Given the description of an element on the screen output the (x, y) to click on. 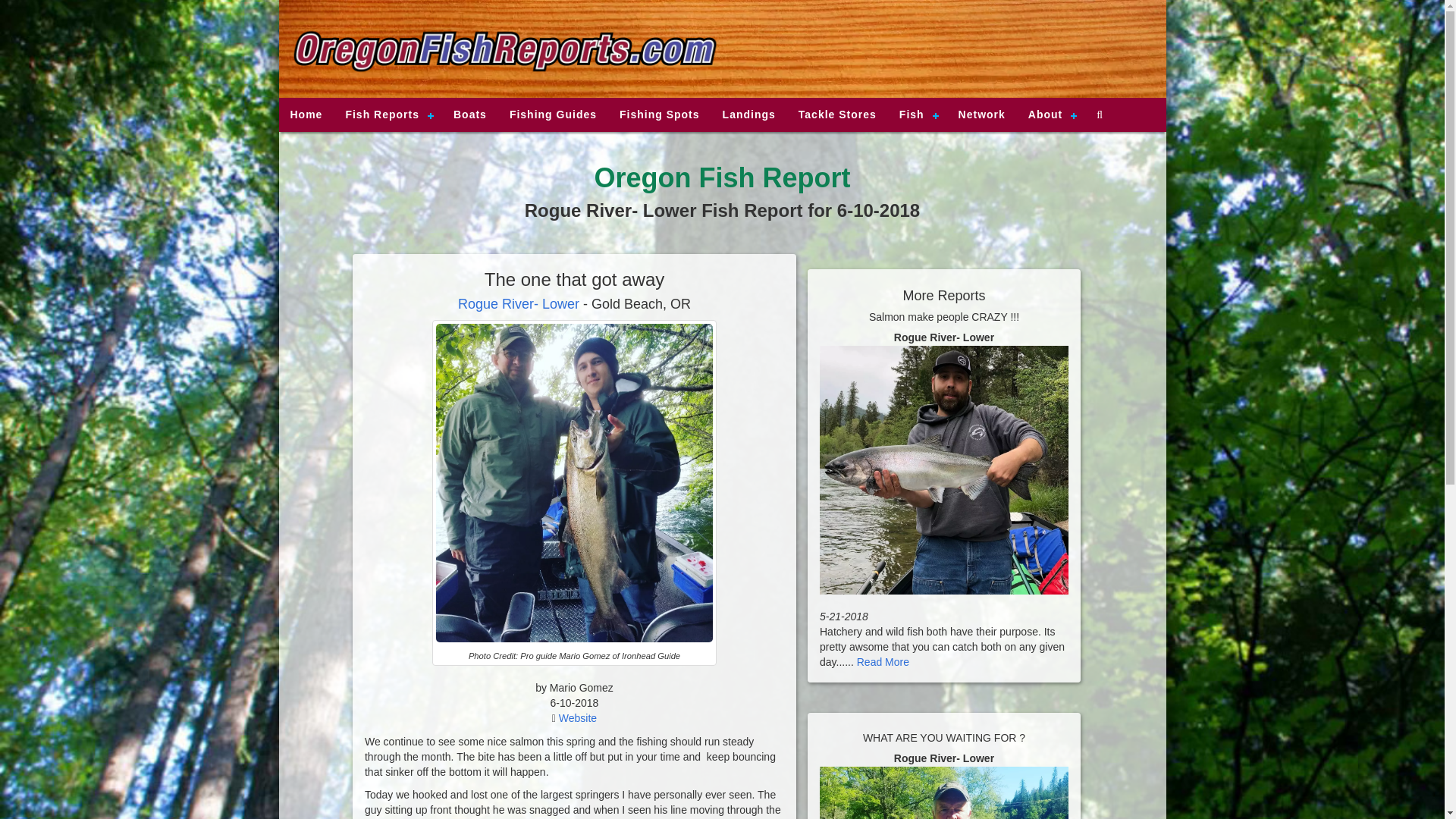
Boats (469, 114)
Website (577, 717)
Landings (749, 114)
Rogue River- Lower (518, 304)
Home (306, 114)
Fishing Guides (552, 114)
Network (981, 114)
About (1050, 114)
Fish (917, 114)
Tackle Stores (837, 114)
Fishing Spots (659, 114)
Read More (882, 662)
Fish Reports (387, 114)
